Given the description of an element on the screen output the (x, y) to click on. 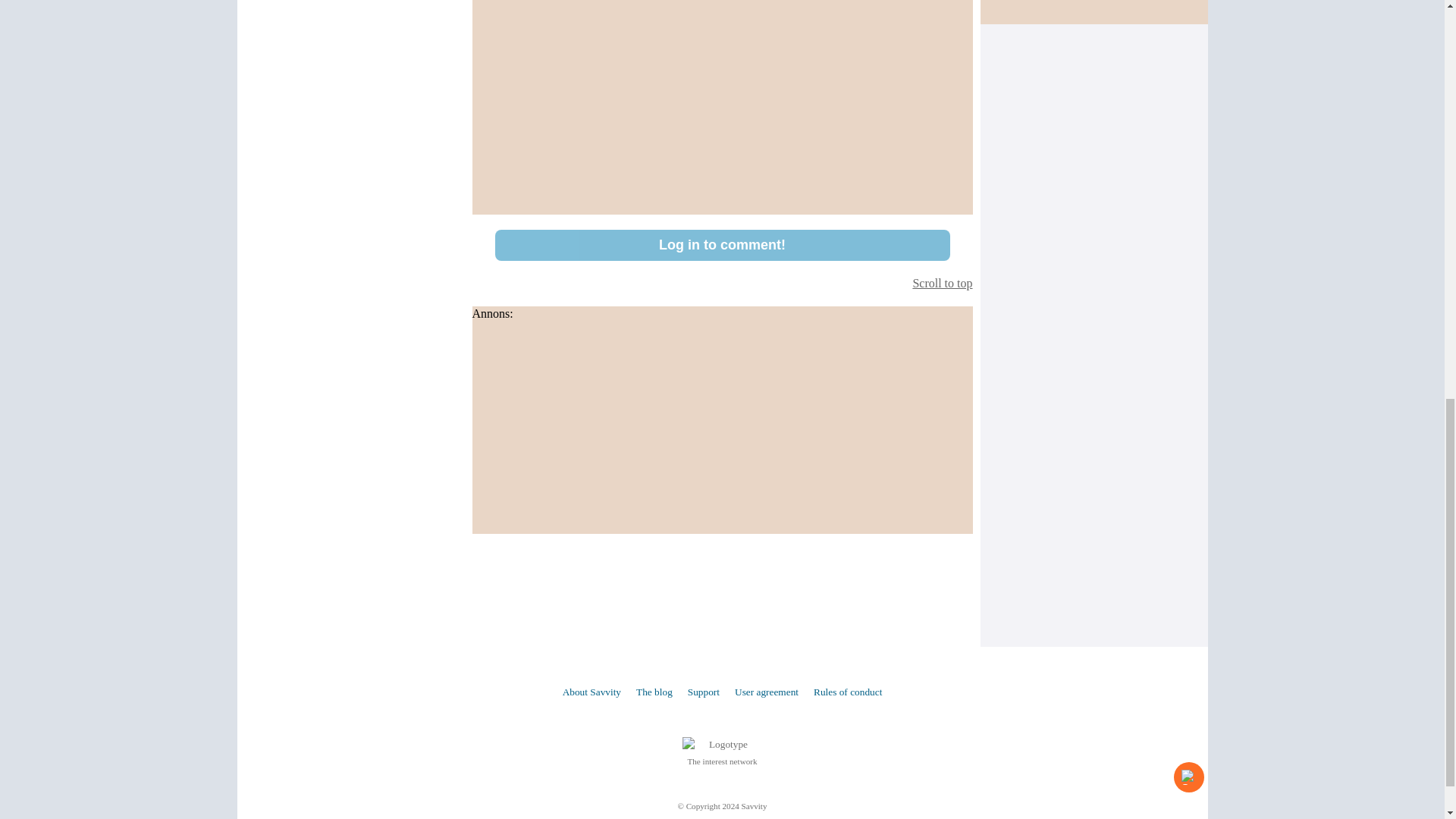
About Savvity (591, 691)
Scroll to top (721, 283)
Scroll to top (721, 283)
Support (702, 691)
User agreement (766, 691)
The blog (653, 691)
Log in to comment! (722, 245)
Rules of conduct (847, 691)
